Given the description of an element on the screen output the (x, y) to click on. 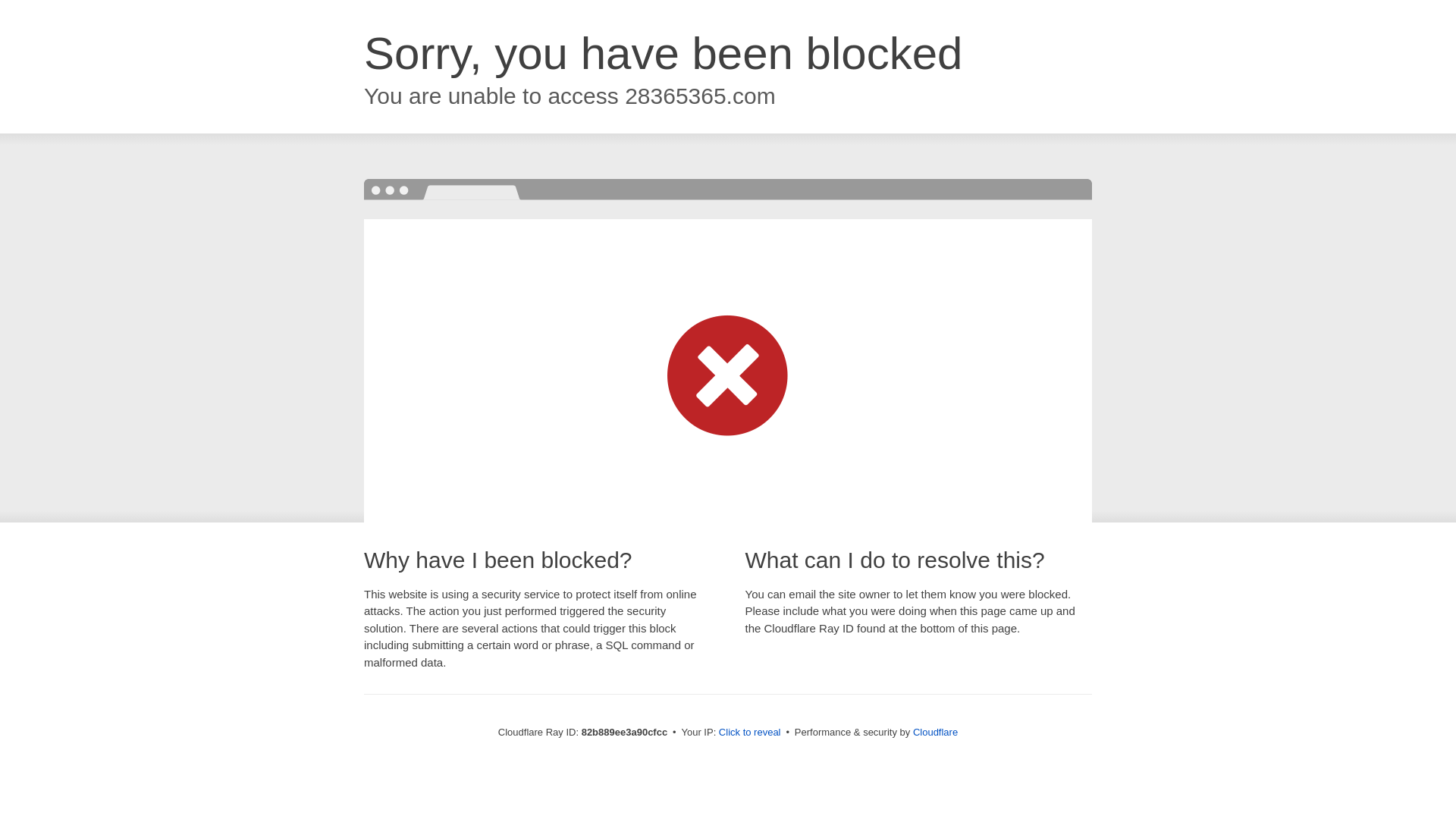
Cloudflare Element type: text (935, 731)
Click to reveal Element type: text (749, 732)
